Given the description of an element on the screen output the (x, y) to click on. 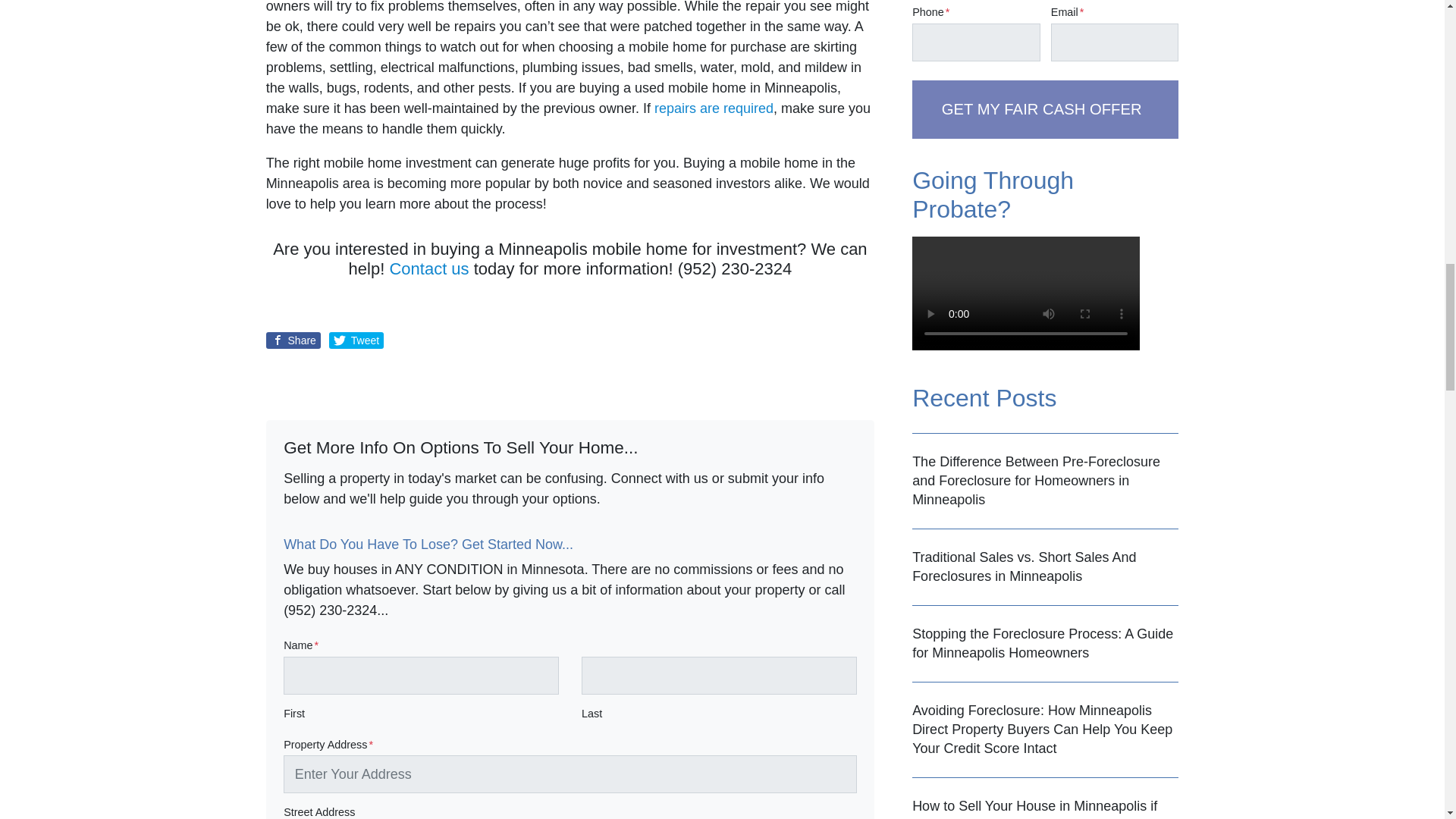
Share on Facebook (293, 340)
Tweet (356, 340)
Contact us (428, 268)
Share (293, 340)
GET MY FAIR CASH OFFER (1044, 109)
Share on Twitter (356, 340)
repairs are required (713, 108)
